Given the description of an element on the screen output the (x, y) to click on. 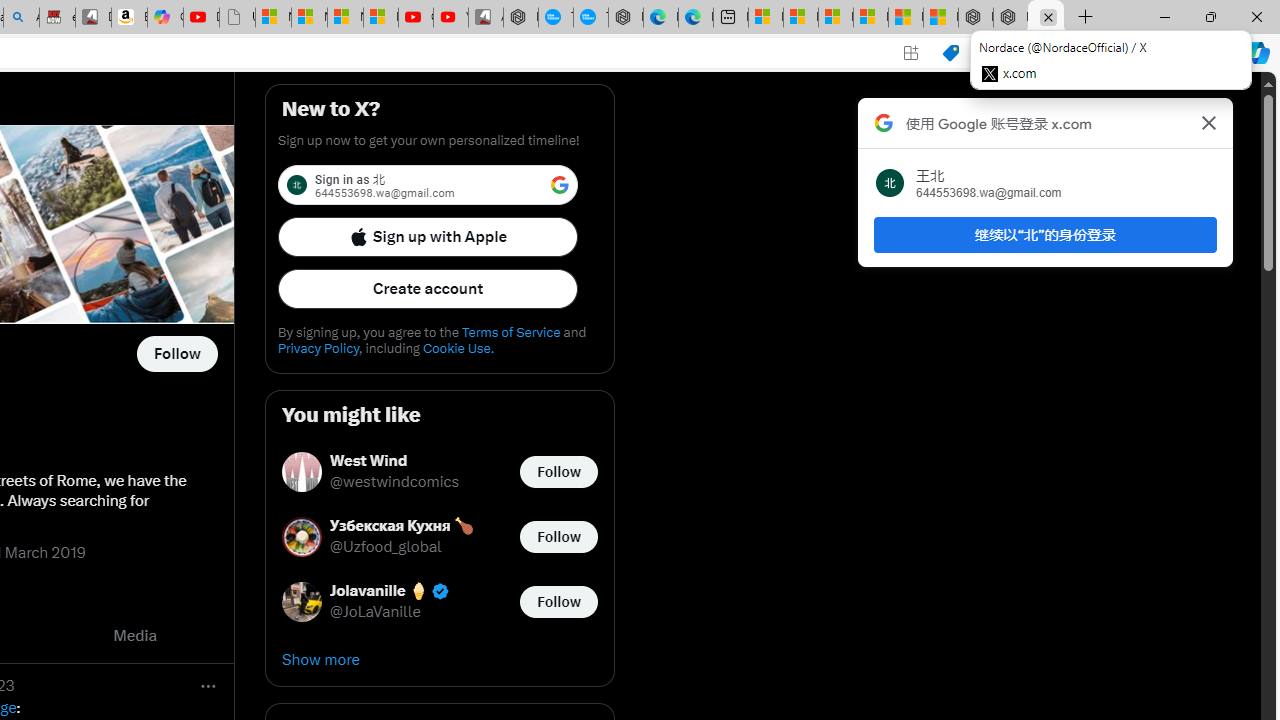
The most popular Google 'how to' searches (590, 17)
@JoLaVanille (375, 611)
Verified account (440, 591)
App available. Install X (910, 53)
Privacy Policy (317, 348)
Create account (427, 288)
Untitled (237, 17)
Copilot (165, 17)
All Cubot phones (485, 17)
Sign up with Apple (427, 236)
